Given the description of an element on the screen output the (x, y) to click on. 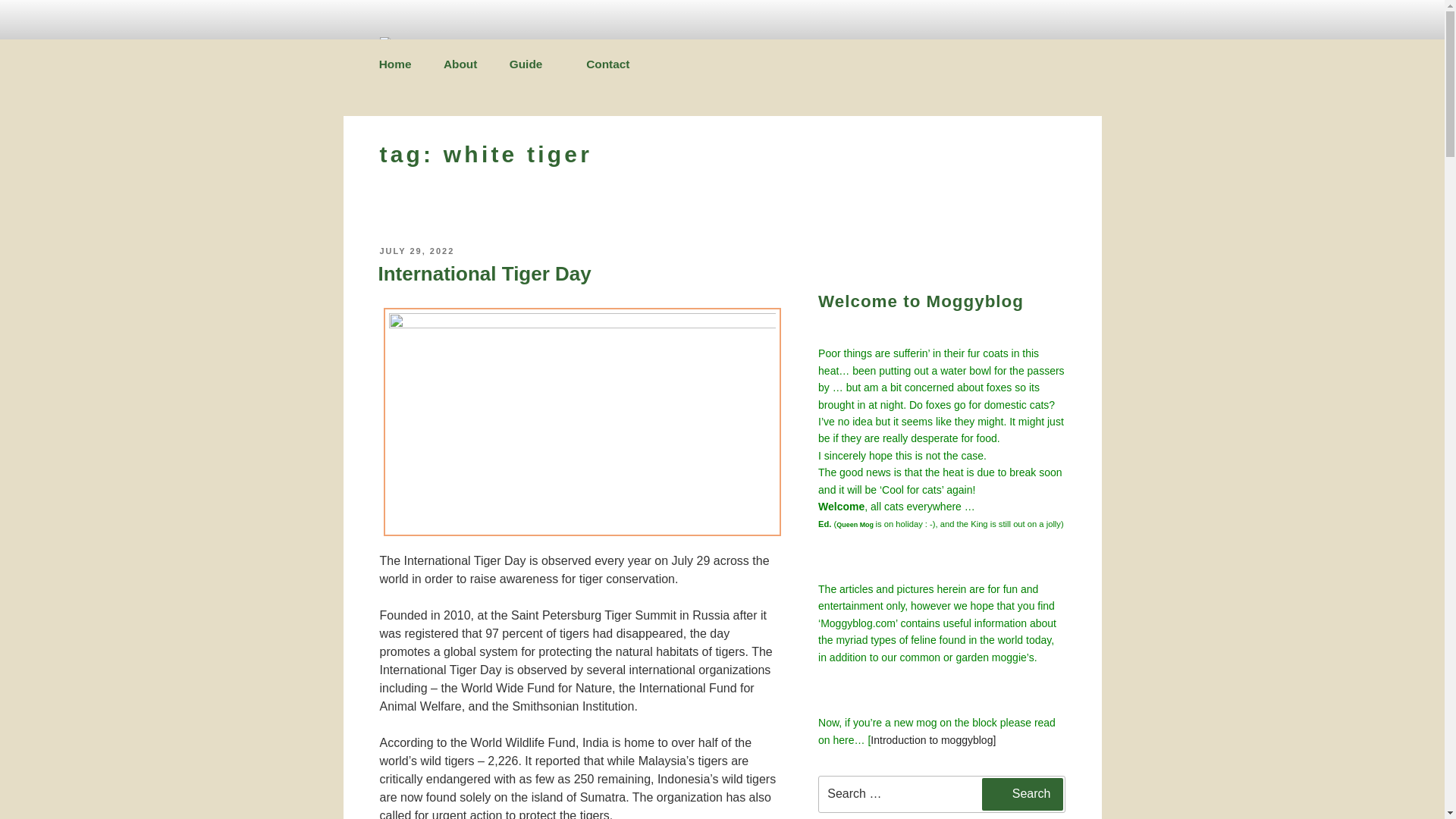
Contact (608, 64)
Search (1021, 793)
International Tiger Day (484, 273)
About (460, 64)
Home (394, 64)
JULY 29, 2022 (416, 250)
Guide (532, 64)
